Given the description of an element on the screen output the (x, y) to click on. 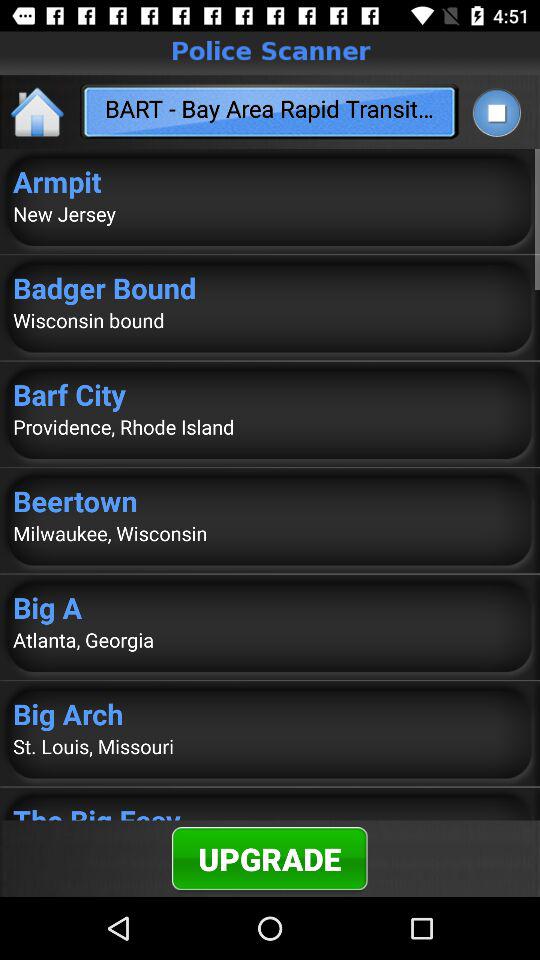
tap icon above armpit icon (38, 111)
